Given the description of an element on the screen output the (x, y) to click on. 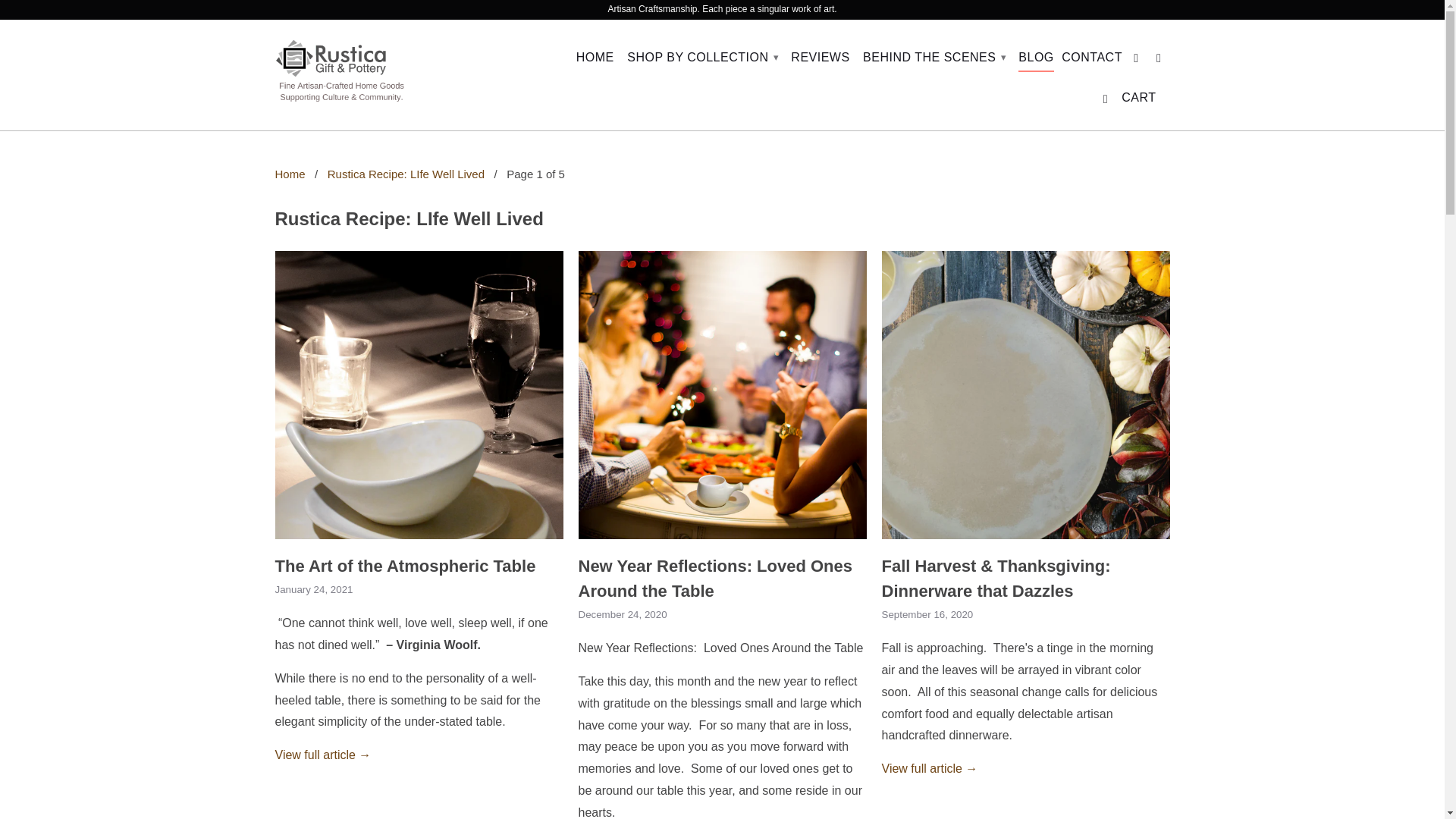
The Art of the Atmospheric Table (323, 754)
Rustica Recipe: LIfe Well Lived (405, 173)
Rustica Recipe: LIfe Well Lived (409, 218)
The Art of the Atmospheric Table (418, 542)
The Art of the Atmospheric Table (405, 565)
Home (289, 173)
New Year Reflections: Loved Ones Around the Table (714, 578)
Rustica Recipe: LIfe Well Lived (405, 173)
Rustica Recipe: LIfe Well Lived (409, 218)
New Year Reflections:  Loved Ones Around the Table (722, 542)
